Given the description of an element on the screen output the (x, y) to click on. 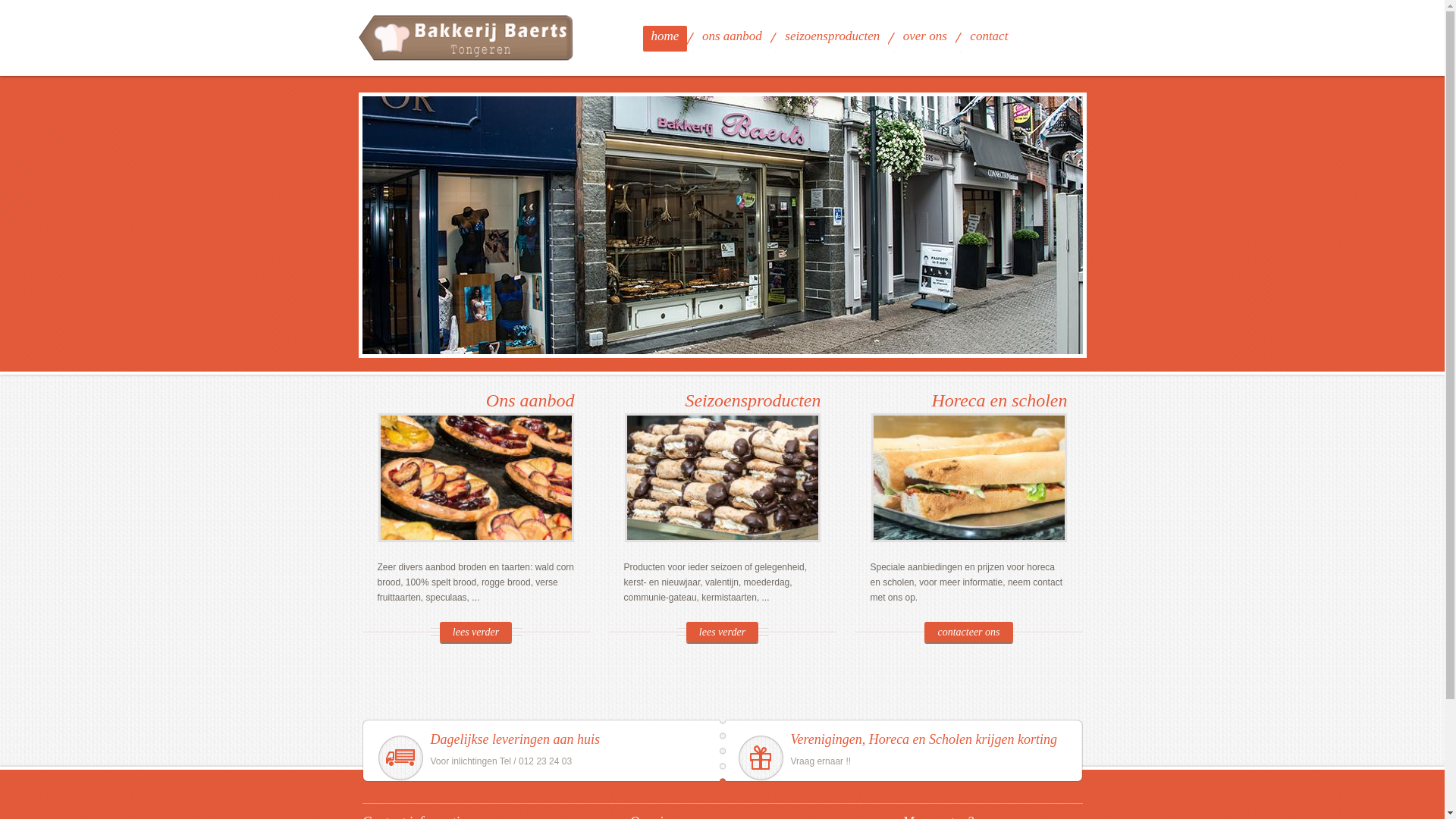
lees verder Element type: text (722, 631)
over ons Element type: text (924, 38)
Bakkerij Baerts Tongeren Element type: text (466, 39)
lees verder Element type: text (475, 631)
contacteer ons Element type: text (968, 631)
contact Element type: text (988, 38)
seizoensproducten Element type: text (832, 38)
home Element type: text (665, 38)
ons aanbod Element type: text (731, 38)
